Given the description of an element on the screen output the (x, y) to click on. 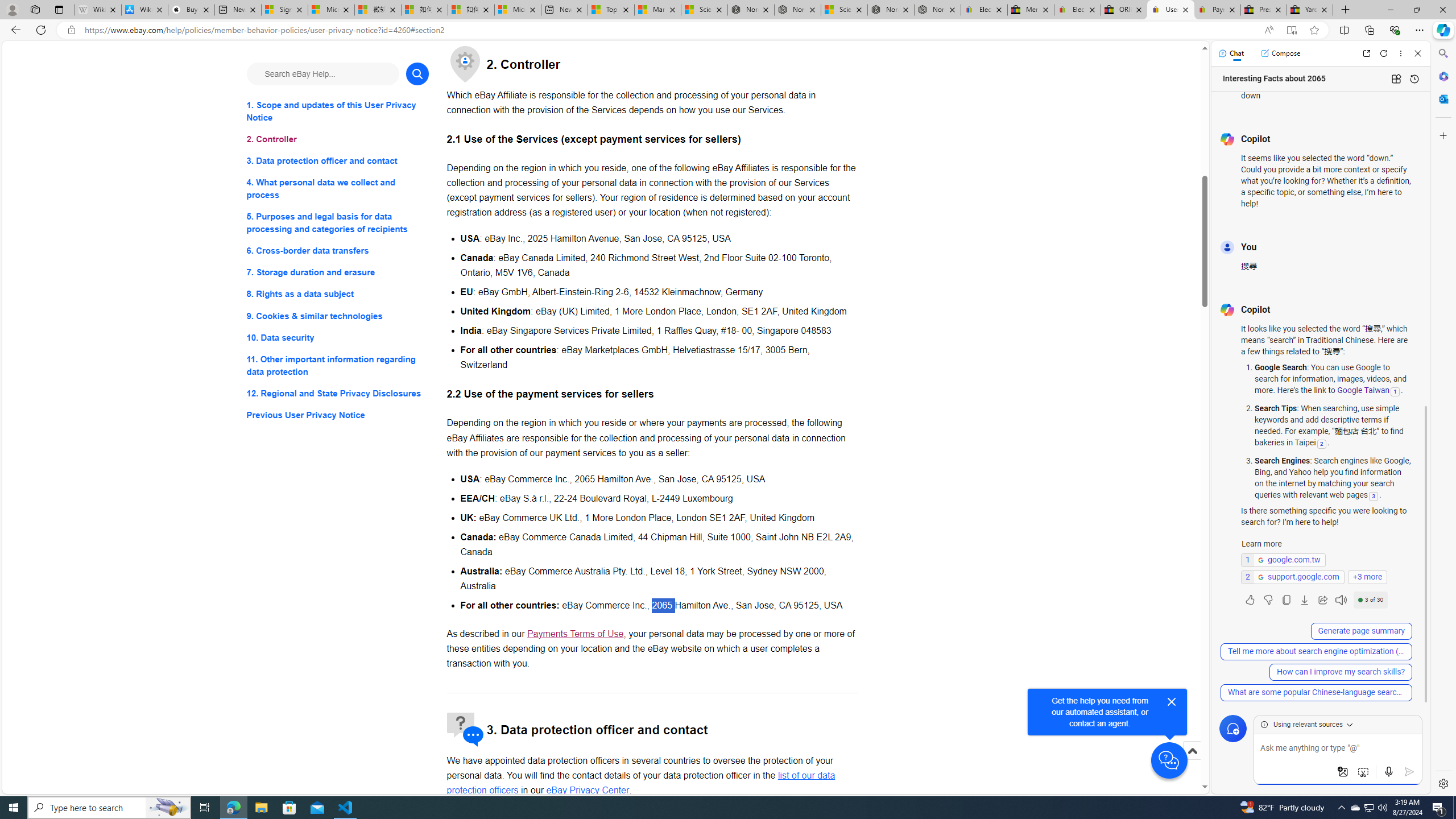
View site information (70, 29)
Personal Profile (12, 9)
Restore (1416, 9)
Back (13, 29)
Microsoft 365 (1442, 76)
Previous User Privacy Notice (337, 414)
2. Controller (337, 138)
Read aloud this page (Ctrl+Shift+U) (1268, 29)
8. Rights as a data subject (337, 293)
Microsoft Services Agreement (330, 9)
Electronics, Cars, Fashion, Collectibles & More | eBay (1077, 9)
Close (1417, 53)
Address and search bar (669, 29)
